Given the description of an element on the screen output the (x, y) to click on. 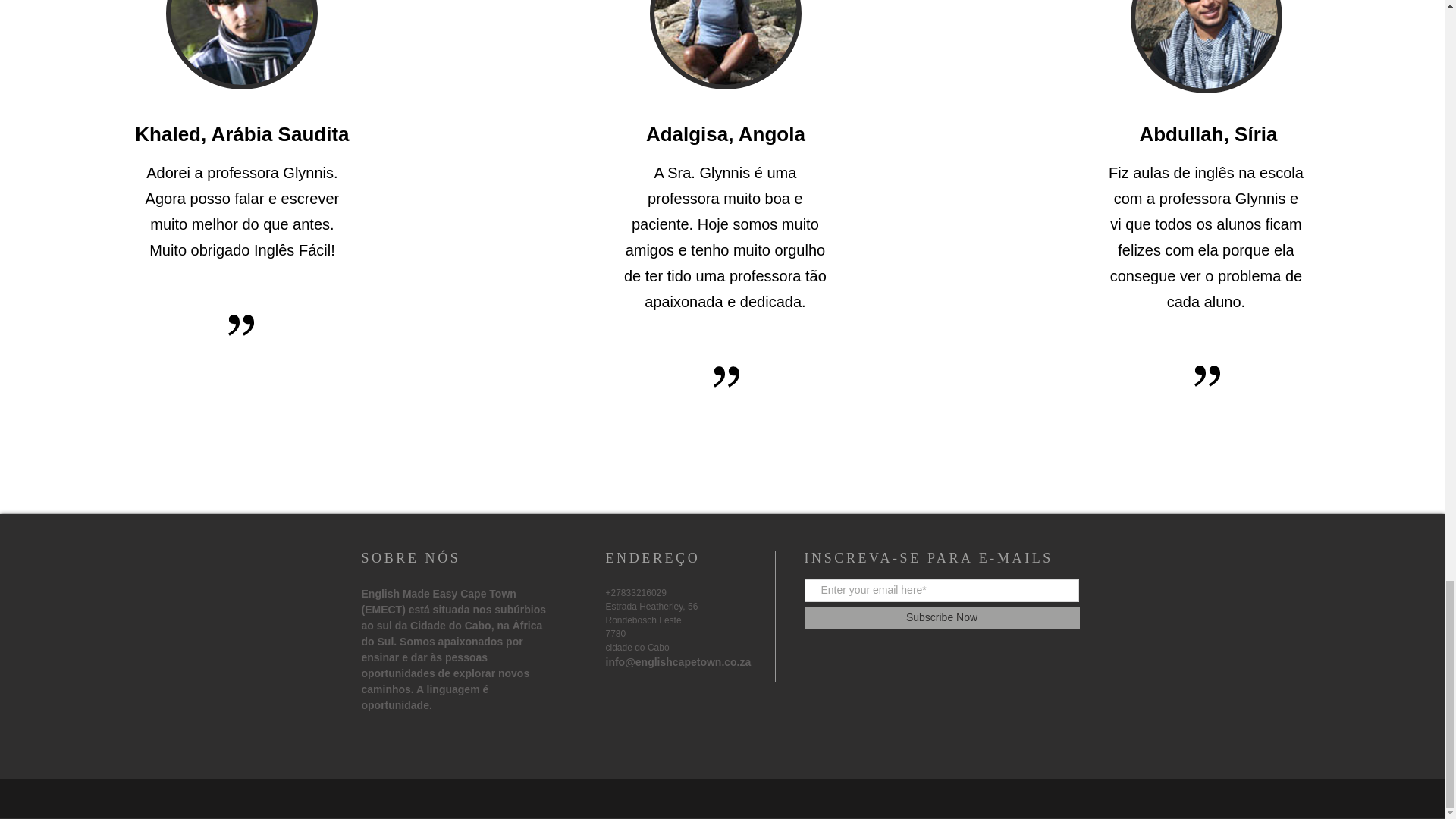
GettyImages-535587703.jpg (241, 44)
GettyImages-124893619.jpg (725, 44)
GettyImages-145680711.jpg (1206, 46)
Subscribe Now (940, 617)
